Given the description of an element on the screen output the (x, y) to click on. 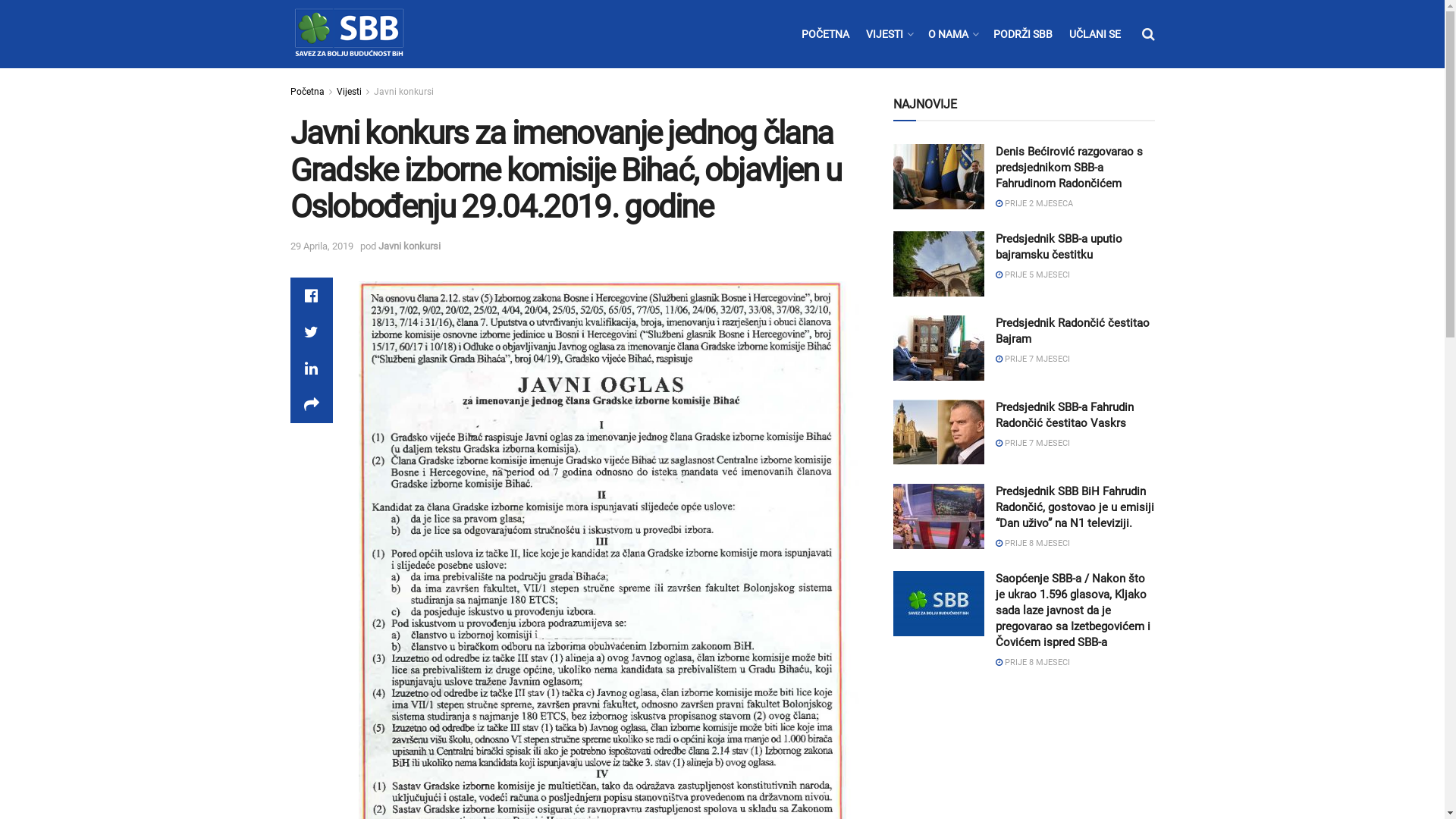
PRIJE 2 MJESECA Element type: text (1033, 203)
29 Aprila, 2019 Element type: text (320, 245)
PRIJE 7 MJESECI Element type: text (1031, 359)
VIJESTI Element type: text (888, 33)
PRIJE 8 MJESECI Element type: text (1031, 662)
Javni konkursi Element type: text (408, 245)
Javni konkursi Element type: text (403, 91)
Vijesti Element type: text (348, 91)
PRIJE 7 MJESECI Element type: text (1031, 443)
PRIJE 8 MJESECI Element type: text (1031, 543)
PRIJE 5 MJESECI Element type: text (1031, 274)
O NAMA Element type: text (952, 33)
